Given the description of an element on the screen output the (x, y) to click on. 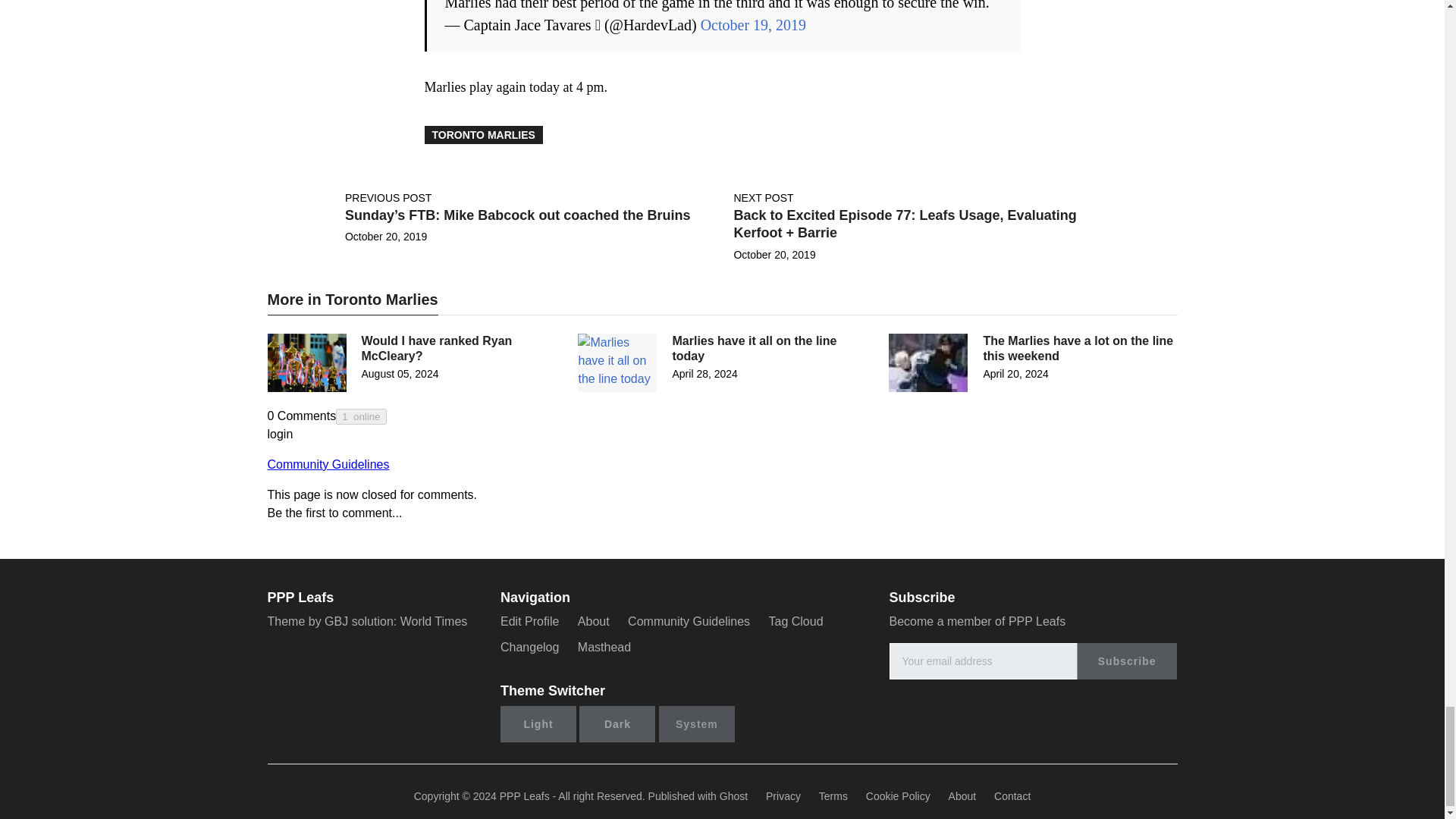
05 August, 2024 (399, 373)
20 October, 2019 (774, 254)
28 April, 2024 (703, 373)
20 April, 2024 (1015, 373)
20 October, 2019 (385, 236)
